Given the description of an element on the screen output the (x, y) to click on. 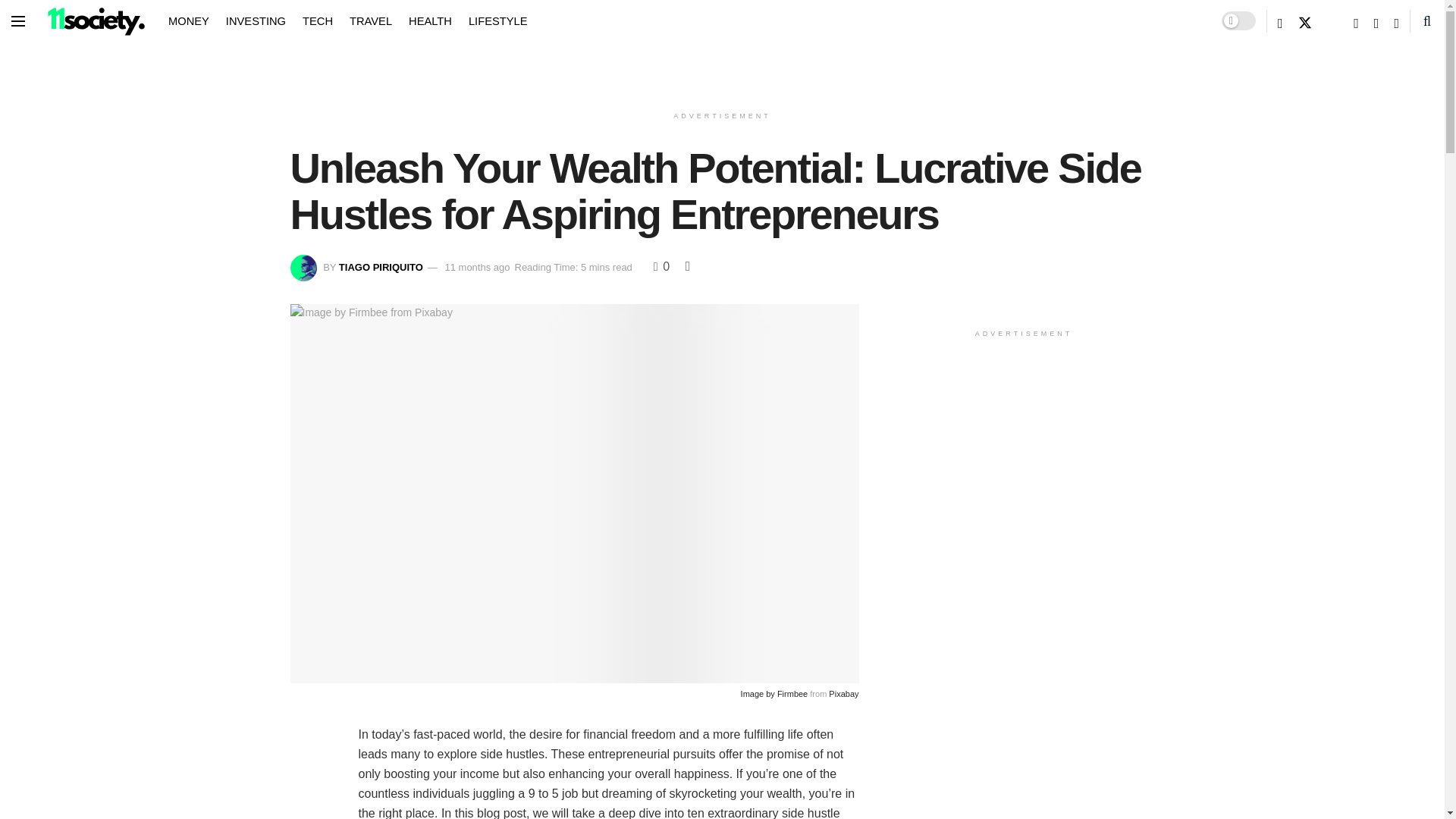
LIFESTYLE (497, 20)
Image by (759, 693)
TRAVEL (370, 20)
TIAGO PIRIQUITO (381, 266)
11 months ago (476, 266)
HEALTH (430, 20)
MONEY (188, 20)
0 (661, 266)
INVESTING (255, 20)
